Given the description of an element on the screen output the (x, y) to click on. 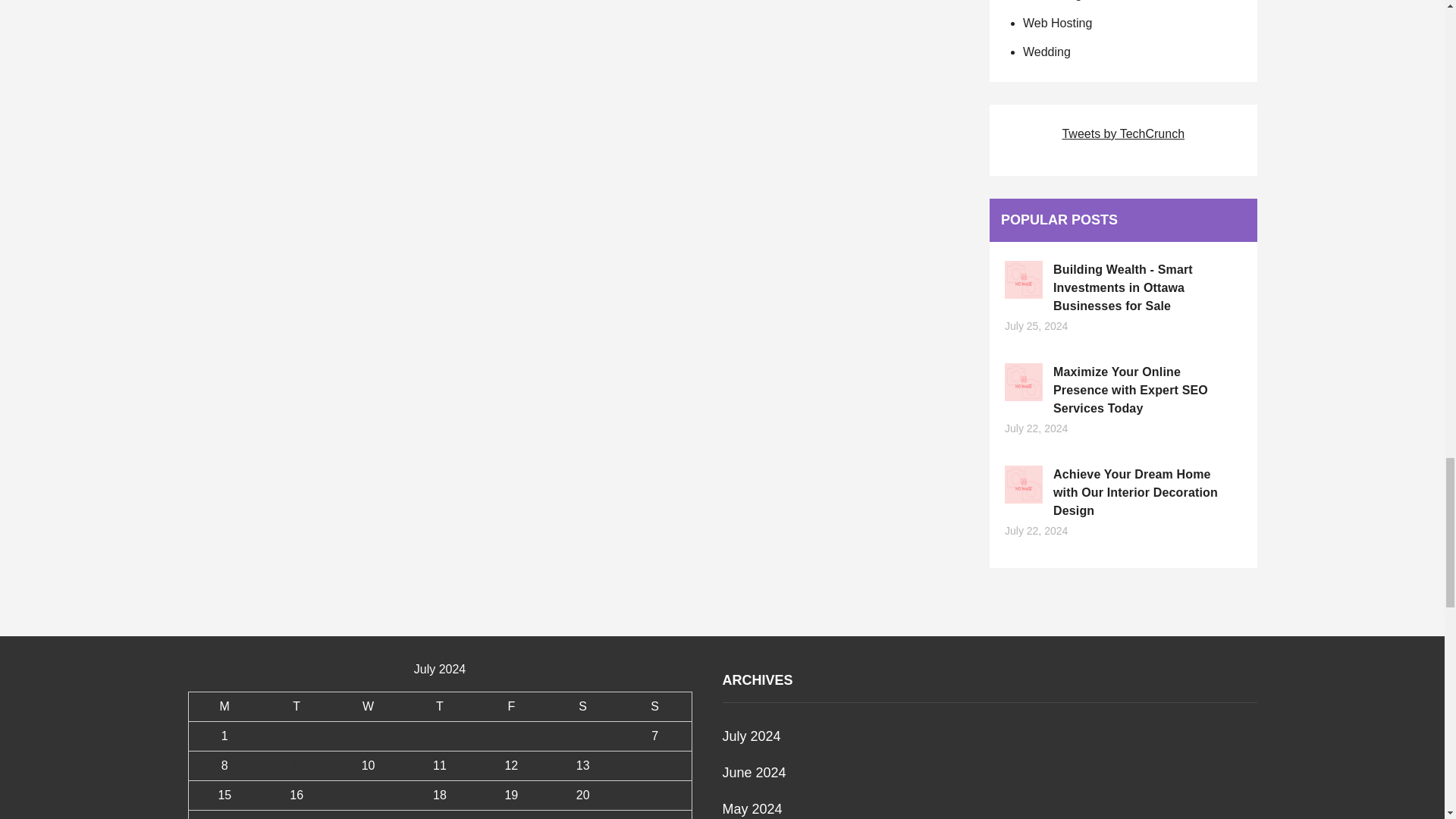
Monday (223, 706)
Saturday (582, 706)
Thursday (440, 706)
Sunday (654, 706)
Wednesday (367, 706)
Friday (511, 706)
Tuesday (295, 706)
